Given the description of an element on the screen output the (x, y) to click on. 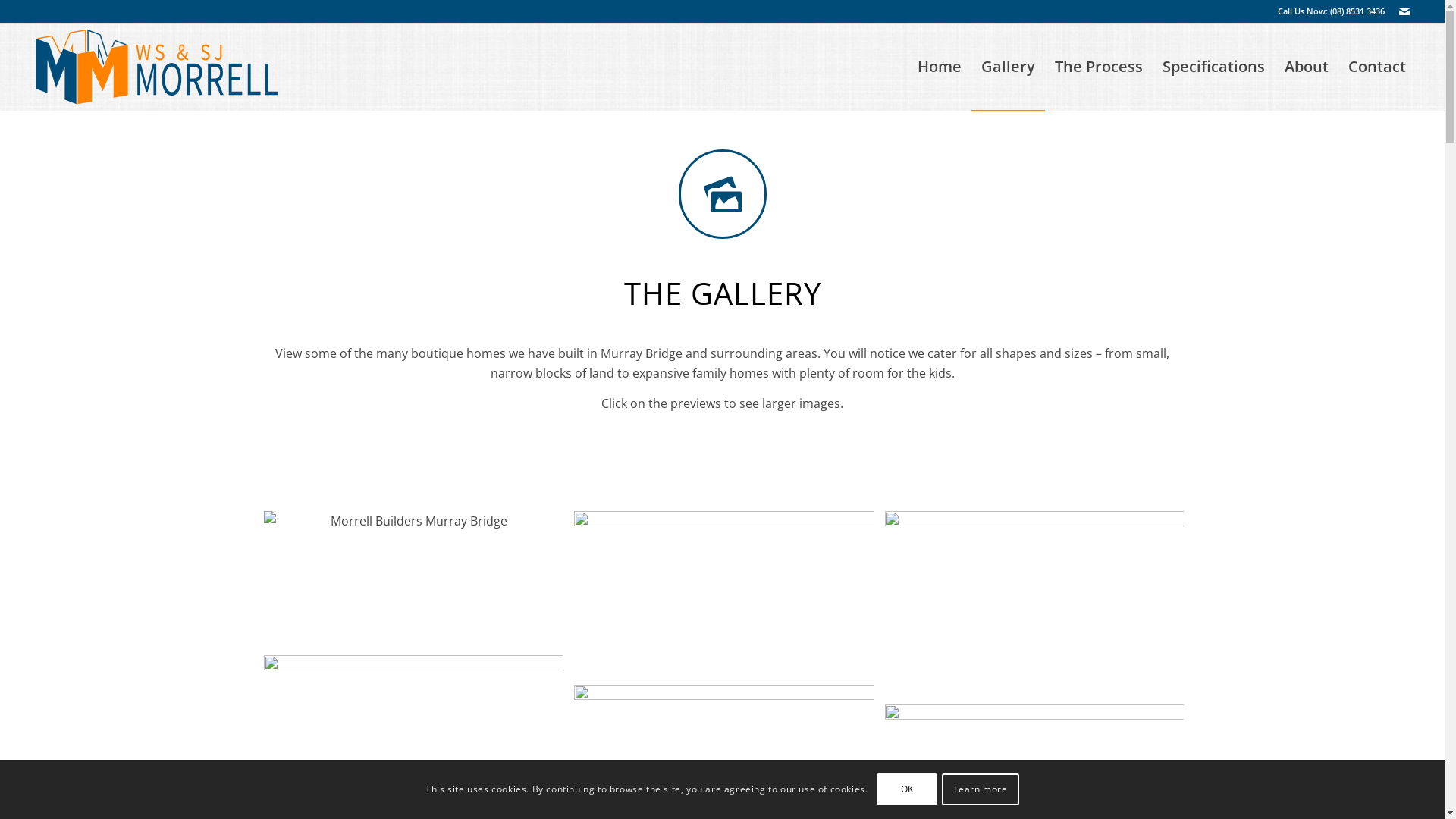
Specifications Element type: text (1213, 66)
Morrell Builders Murray Bridge Element type: hover (413, 577)
Morrell Builders Murray Bridge Element type: hover (418, 583)
Murray Bridge Element type: hover (729, 597)
Murray Bridge Element type: hover (1034, 602)
Murray Bridge Element type: hover (413, 733)
WS & SJ Morrell Builders Logo Element type: hover (155, 66)
Contact Element type: text (1376, 66)
Murray Bridge Element type: hover (1039, 607)
Mail Element type: hover (1404, 11)
Learn more Element type: text (979, 789)
The Process Element type: text (1098, 66)
Home Element type: text (939, 66)
Murray Bridge Element type: hover (723, 592)
About Element type: text (1306, 66)
Gallery Element type: text (1007, 66)
OK Element type: text (906, 789)
